Given the description of an element on the screen output the (x, y) to click on. 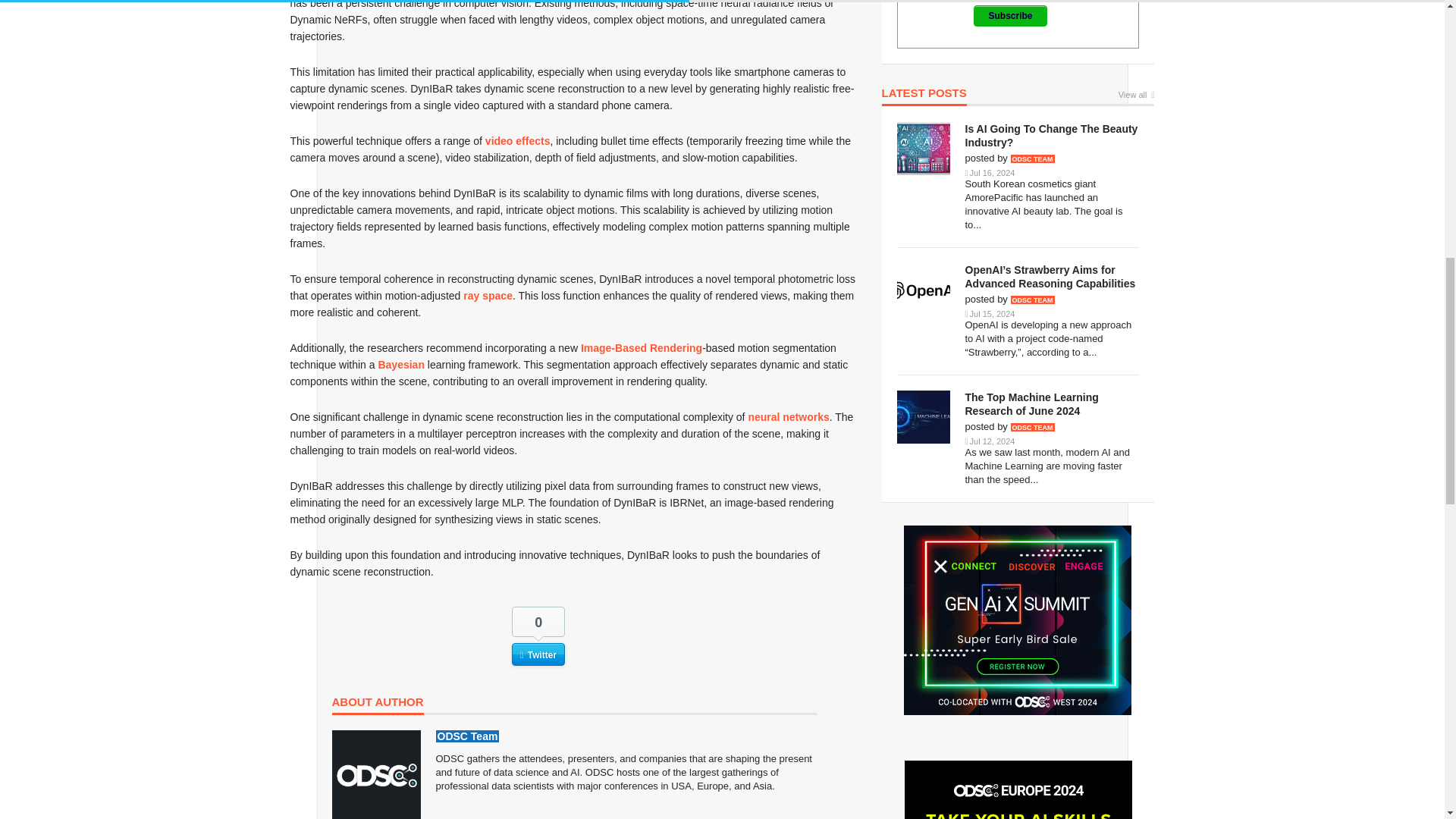
Subscribe (1010, 15)
